Given the description of an element on the screen output the (x, y) to click on. 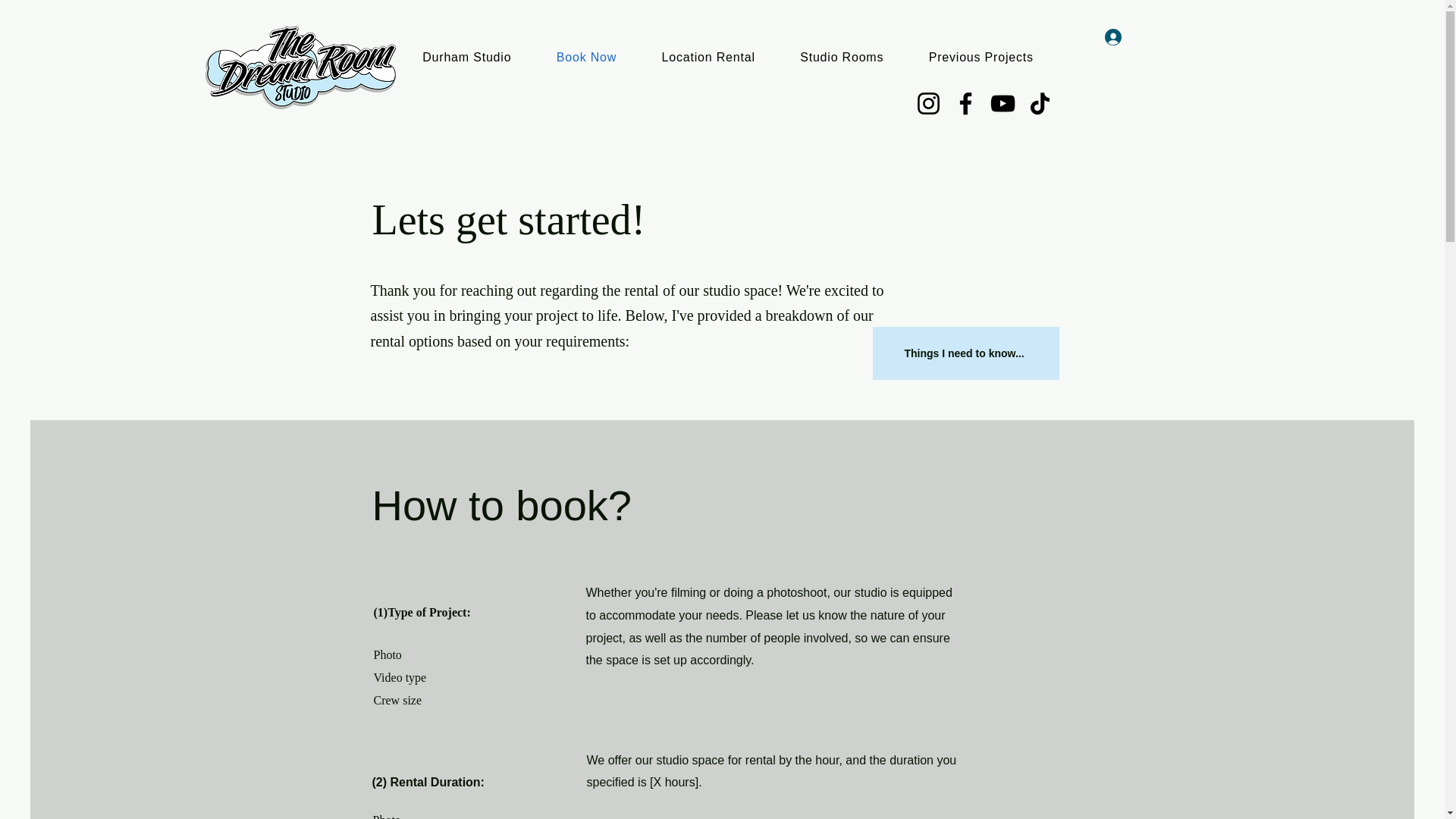
Location Rental (708, 57)
Book Now (586, 57)
Studio Rooms (841, 57)
Things I need to know... (965, 353)
Previous Projects (980, 57)
Log In (1127, 36)
Durham Studio (466, 57)
